Given the description of an element on the screen output the (x, y) to click on. 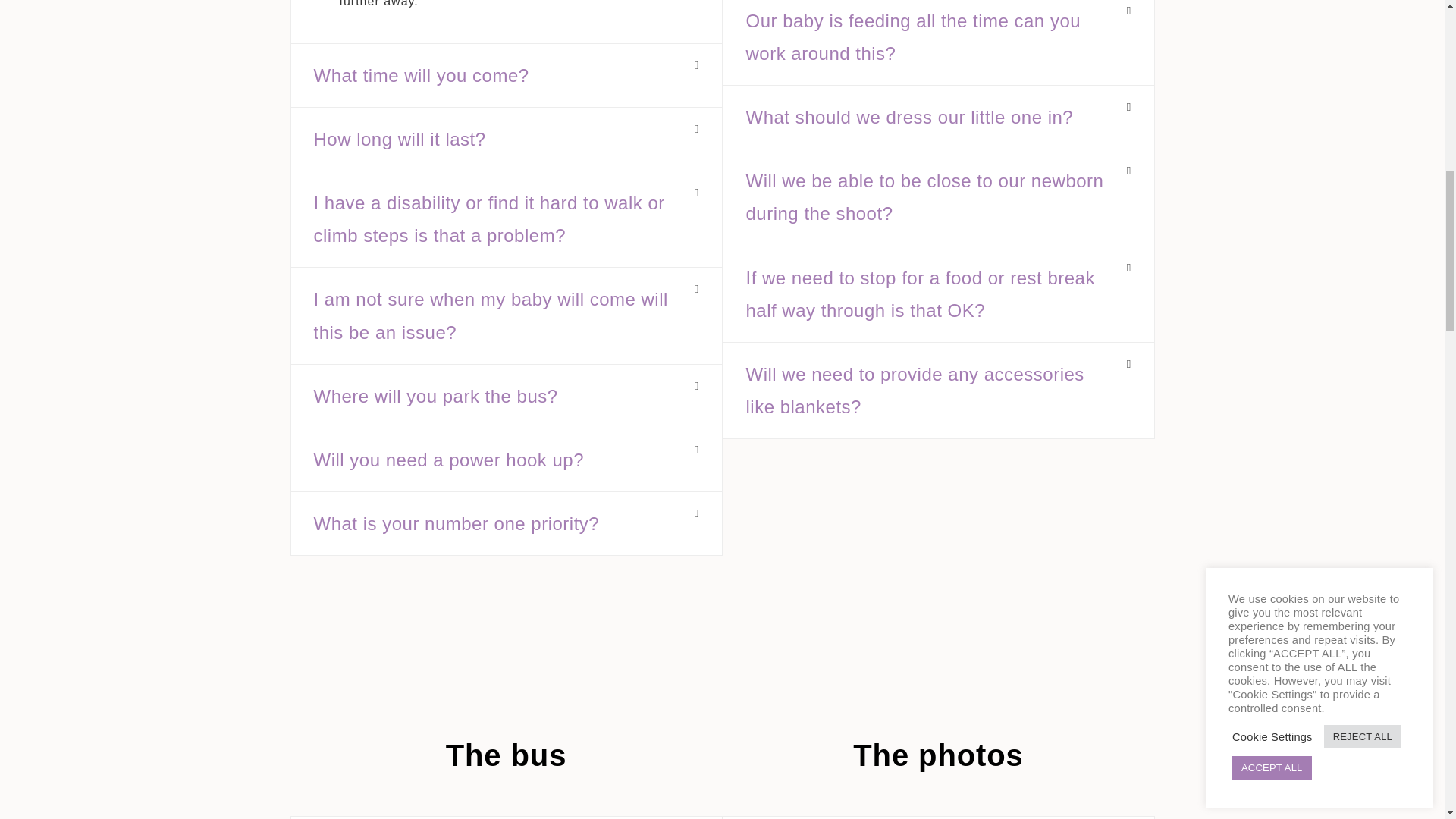
What time will you come? (421, 75)
What should we dress our little one in? (909, 117)
Will we be able to be close to our newborn during the shoot? (924, 196)
How long will it last? (400, 138)
Our baby is feeding all the time can you work around this? (913, 36)
Will we need to provide any accessories like blankets? (914, 389)
Where will you park the bus? (435, 395)
Will you need a power hook up? (449, 459)
I am not sure when my baby will come will this be an issue? (491, 315)
What is your number one priority? (456, 523)
